Given the description of an element on the screen output the (x, y) to click on. 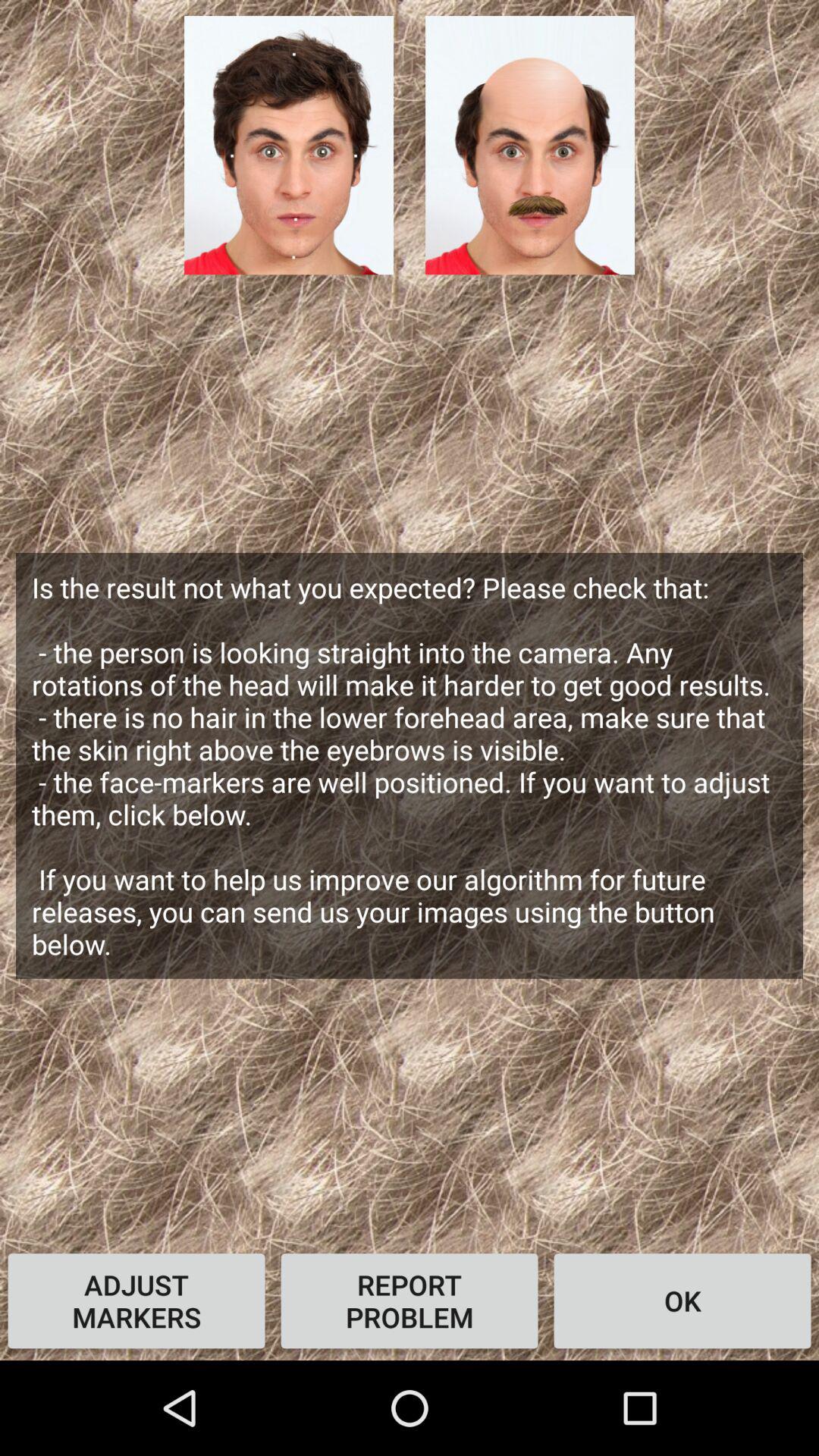
select icon next to ok item (409, 1300)
